Given the description of an element on the screen output the (x, y) to click on. 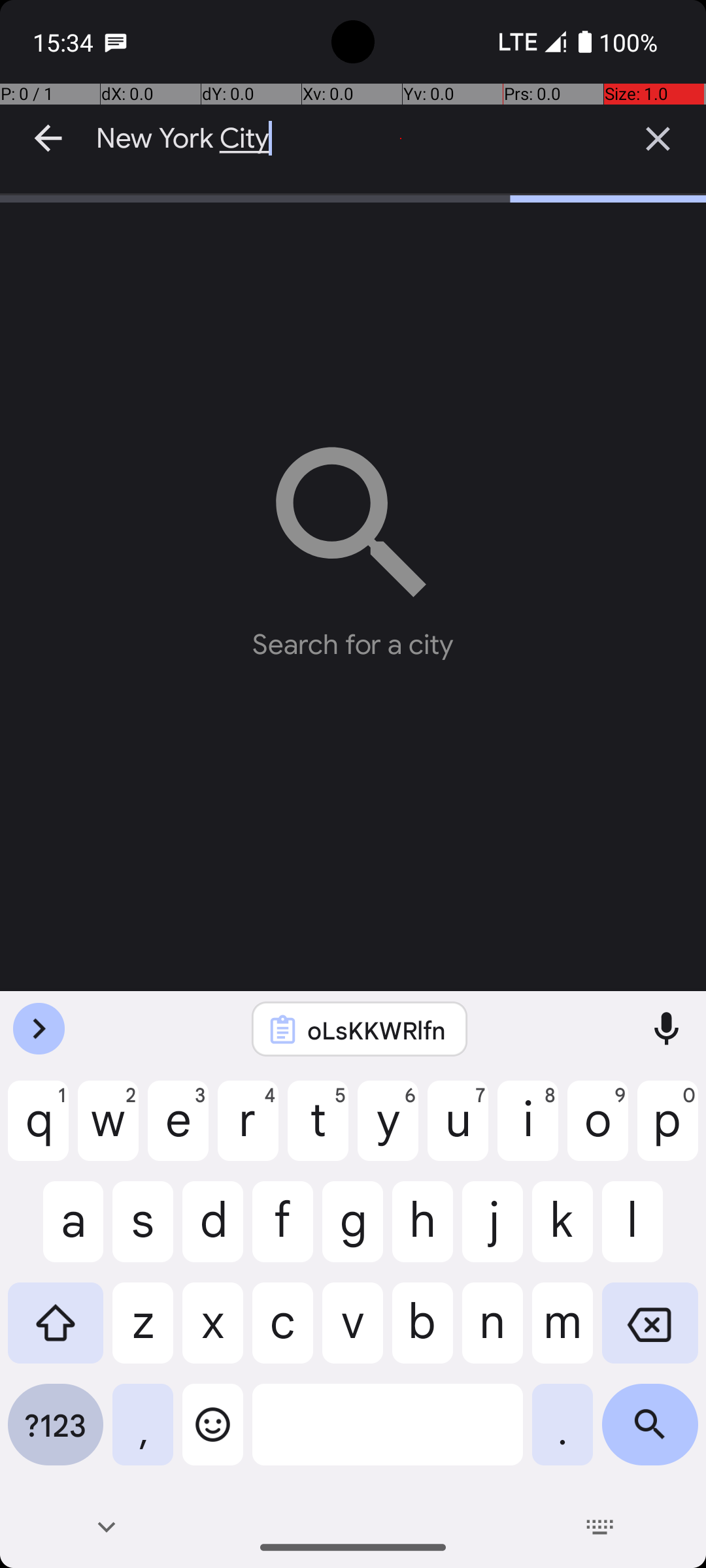
New York City Element type: android.widget.EditText (352, 138)
Clear text Element type: android.widget.ImageButton (657, 138)
Search for a city Element type: android.widget.TextView (353, 541)
oLsKKWRlfn Element type: android.widget.TextView (376, 1029)
